Given the description of an element on the screen output the (x, y) to click on. 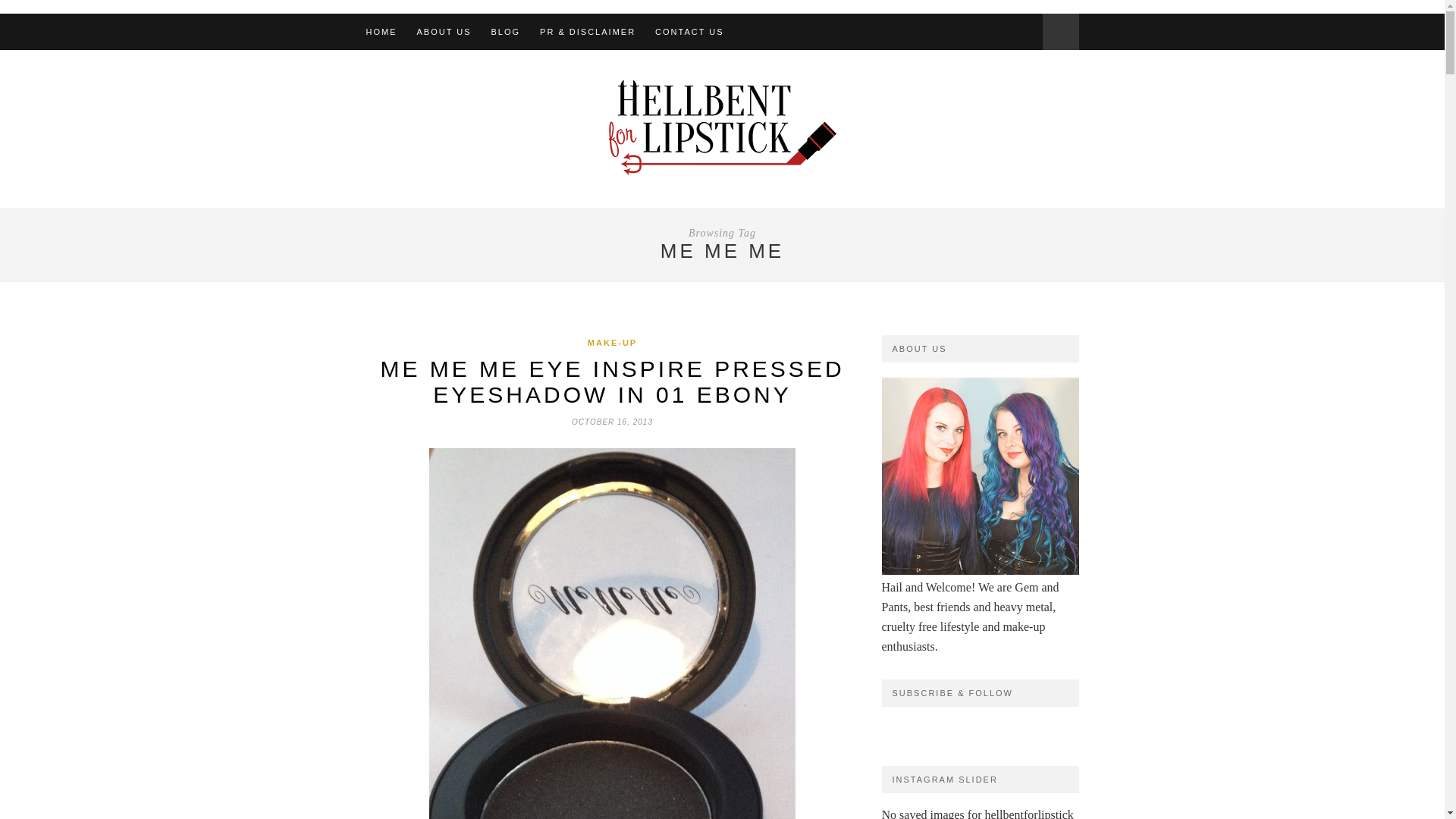
ME ME ME EYE INSPIRE PRESSED EYESHADOW IN 01 EBONY (612, 381)
View all posts in Make-up (612, 342)
MAKE-UP (612, 342)
CONTACT US (689, 31)
ABOUT US (443, 31)
